Given the description of an element on the screen output the (x, y) to click on. 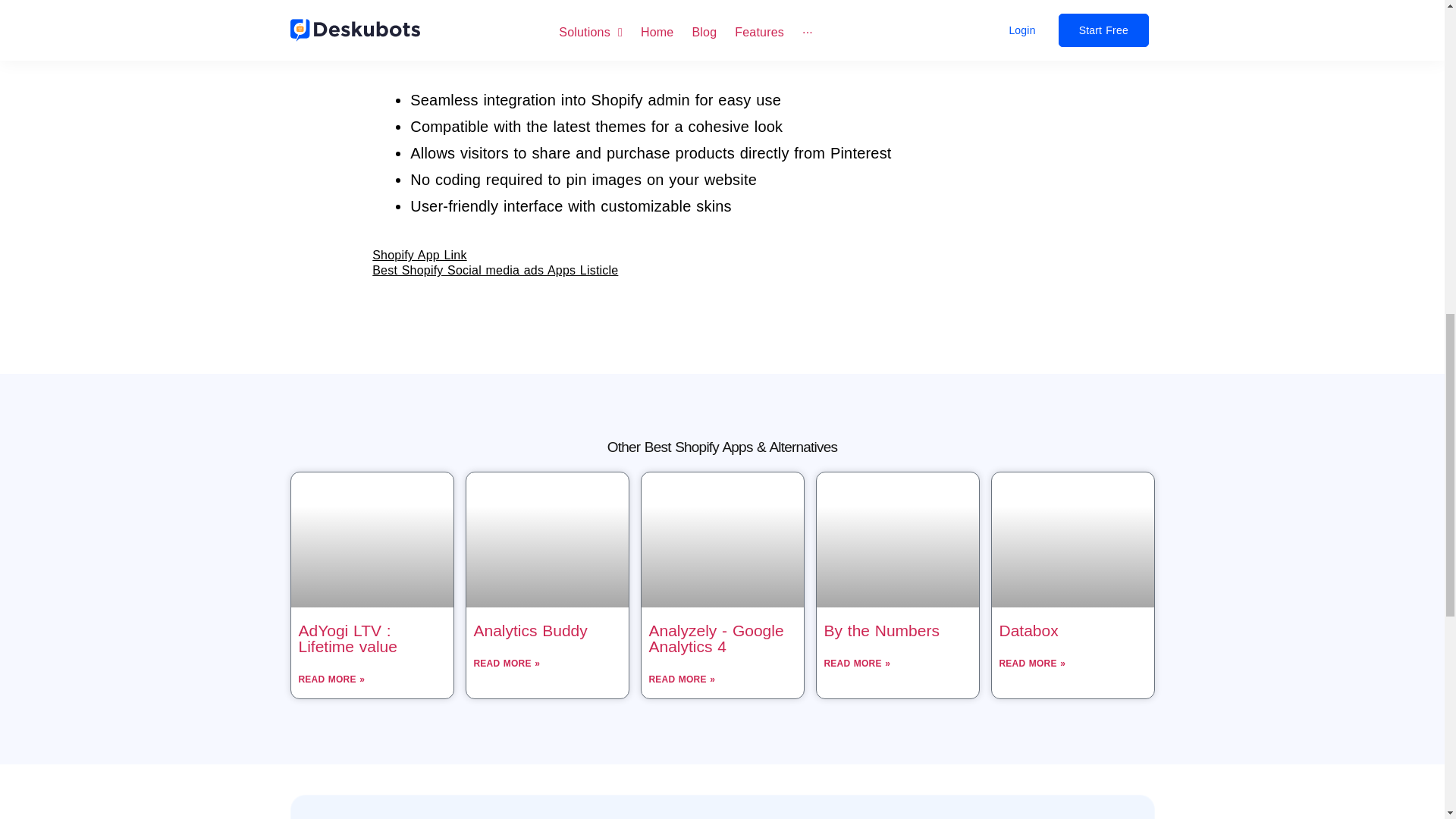
Best Shopify Social media ads Apps Listicle (494, 269)
Shopify App Link (418, 254)
